Given the description of an element on the screen output the (x, y) to click on. 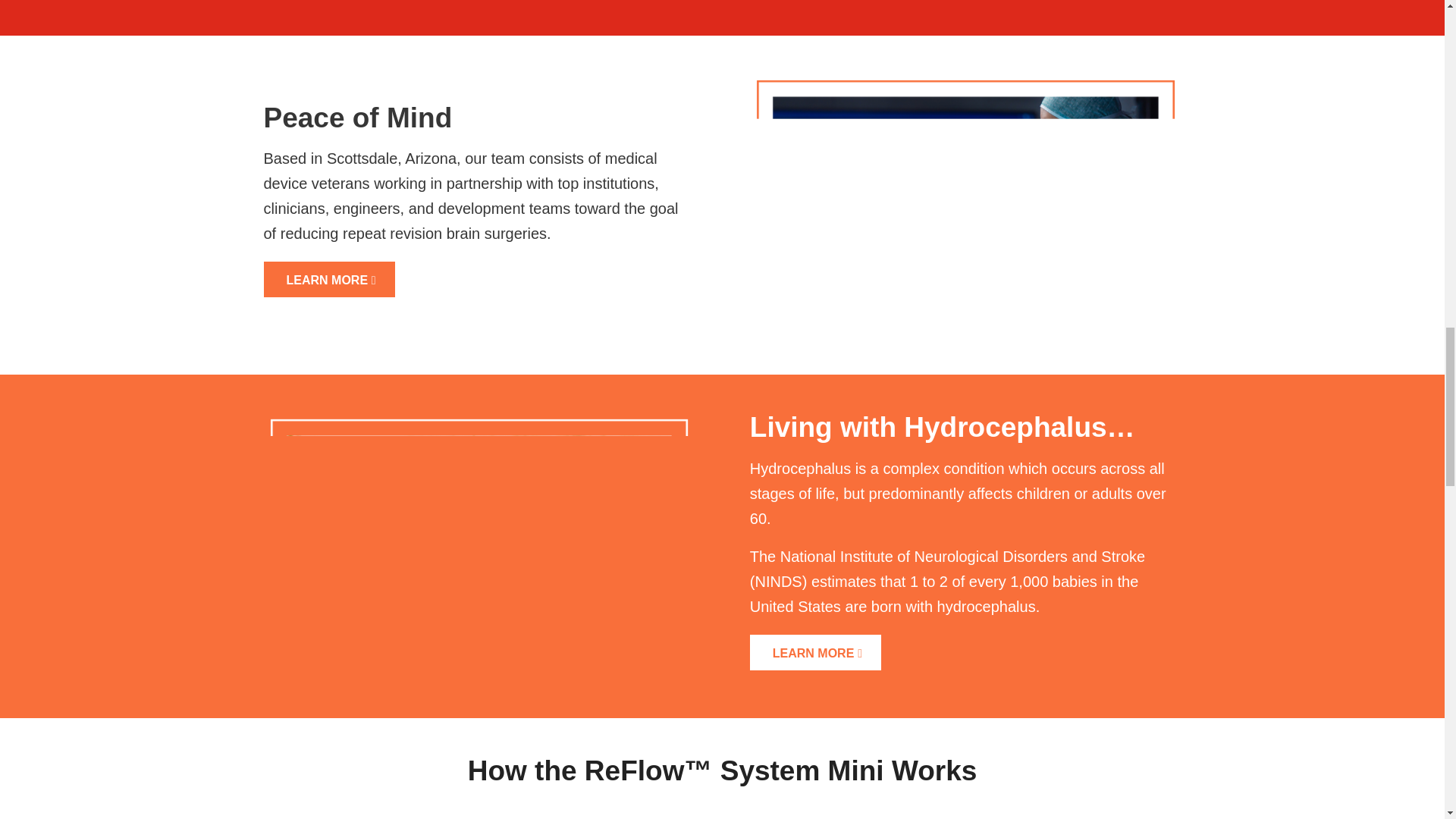
Peace of Mind Image (964, 204)
Hydrocephalus Image (479, 543)
